Given the description of an element on the screen output the (x, y) to click on. 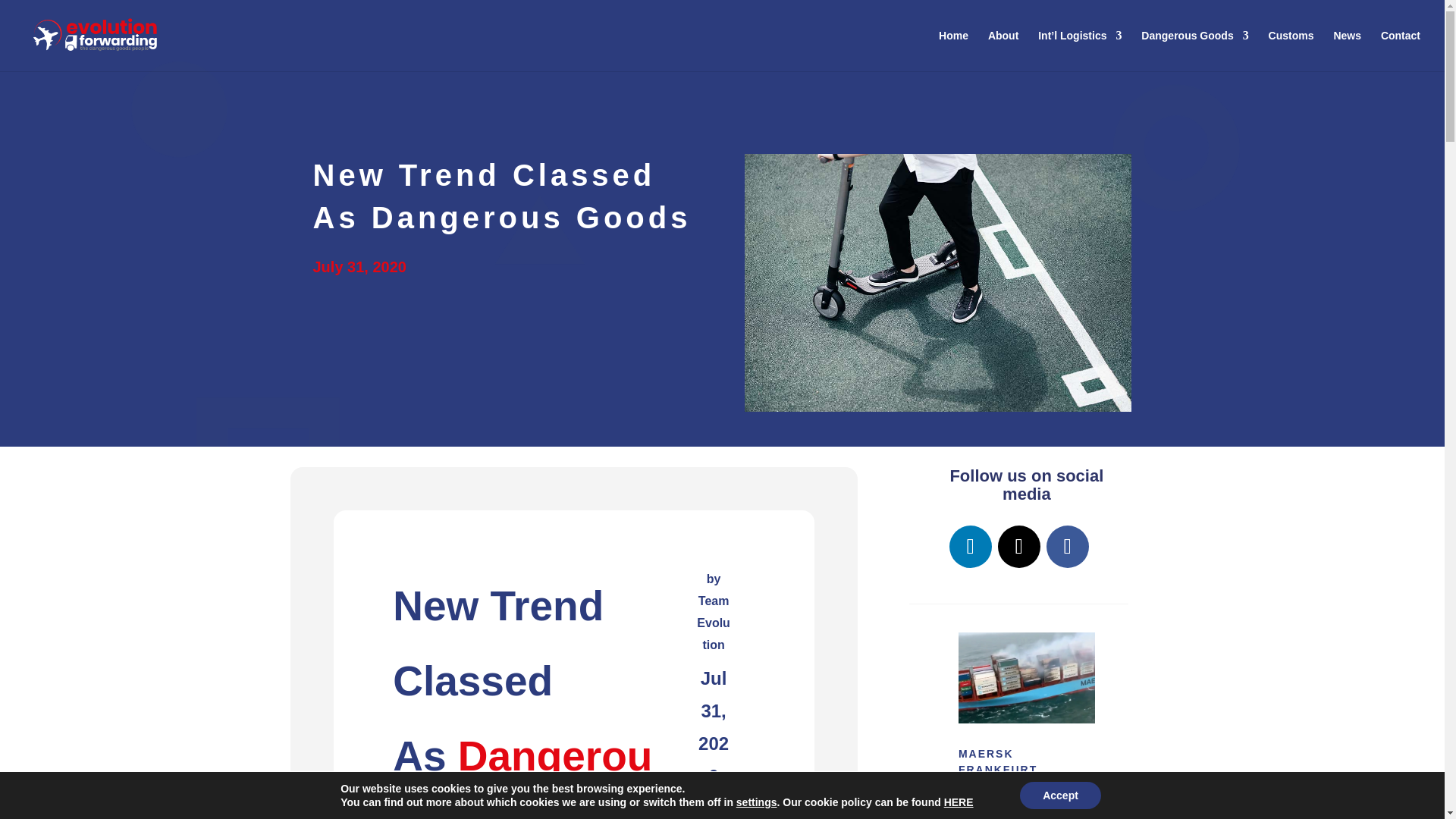
Dangerous Goods (1194, 50)
Customs (1291, 50)
Follow on X (1019, 546)
Follow on Facebook (1067, 546)
Follow on LinkedIn (970, 546)
scooters (937, 282)
Contact (1400, 50)
